Given the description of an element on the screen output the (x, y) to click on. 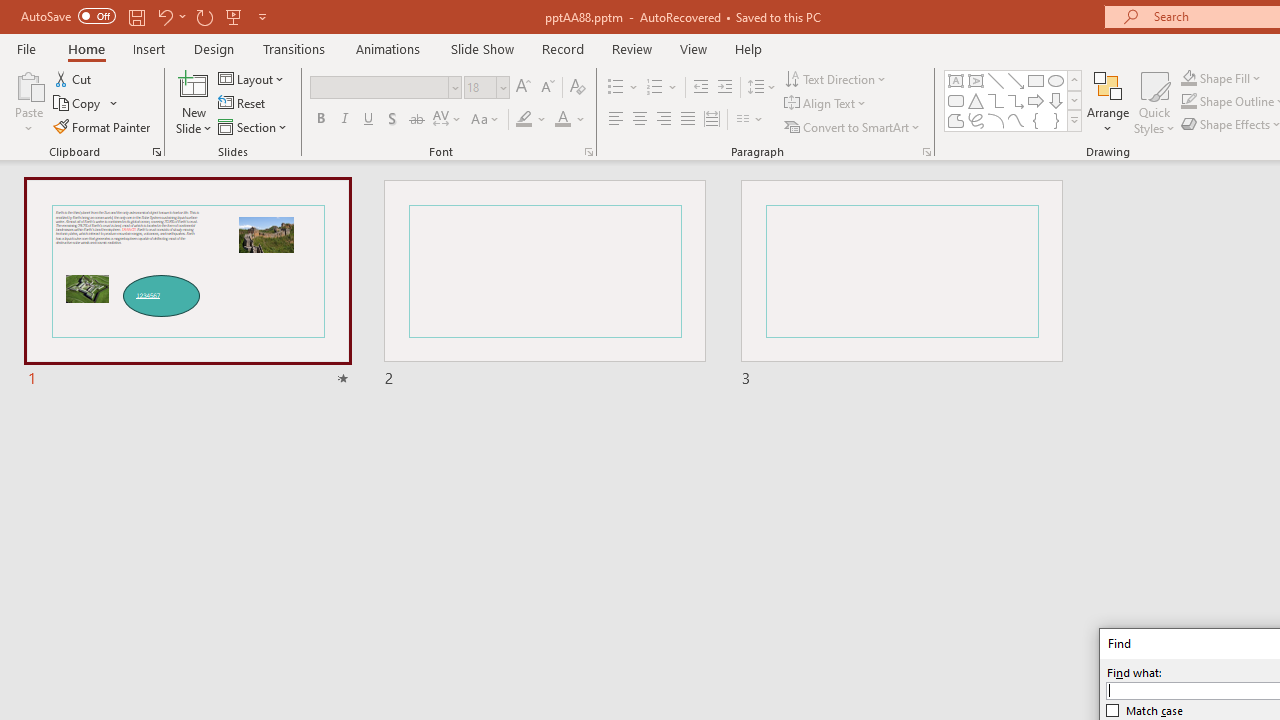
Match case (1145, 710)
